Given the description of an element on the screen output the (x, y) to click on. 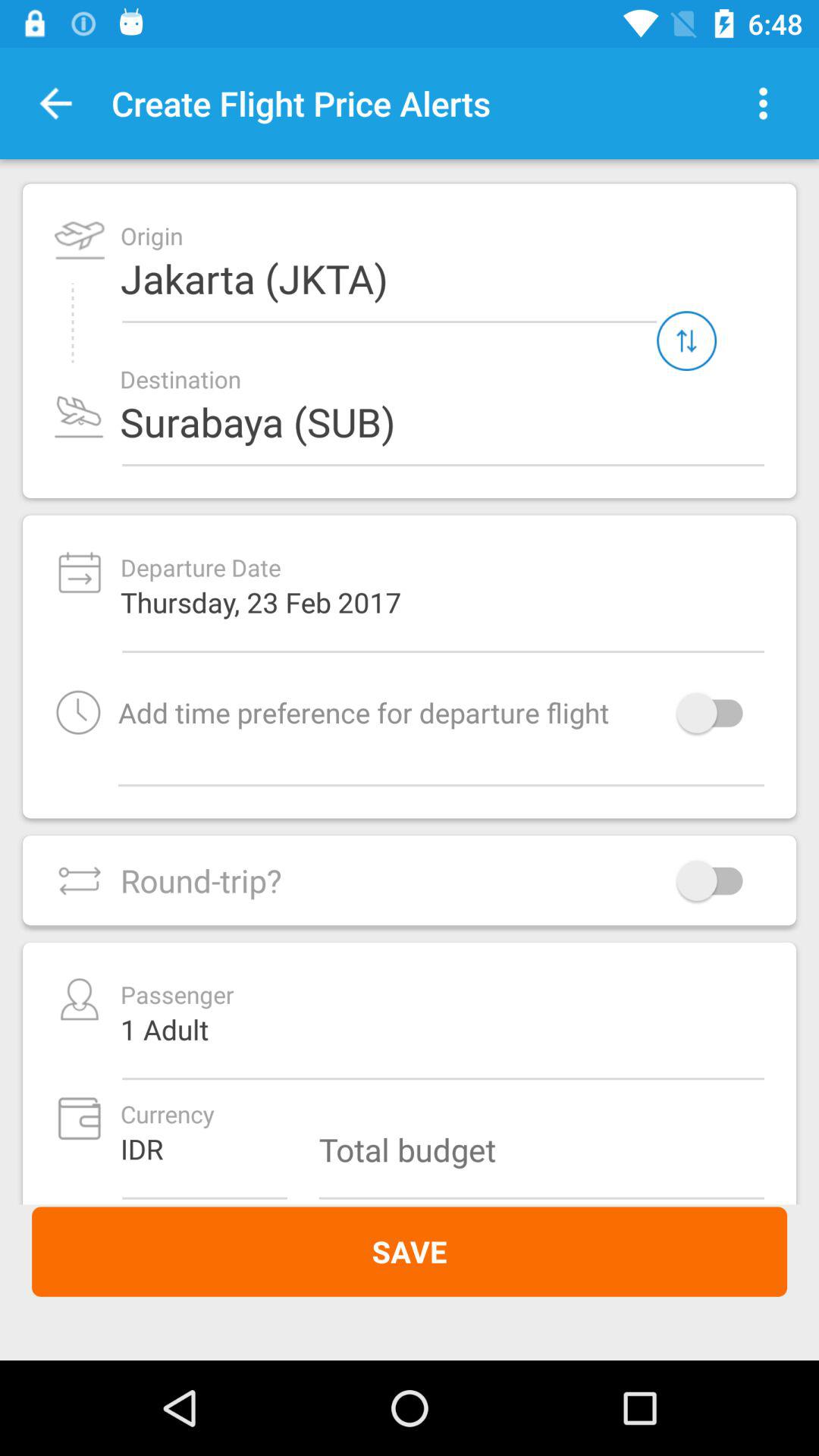
change origin (686, 340)
